Given the description of an element on the screen output the (x, y) to click on. 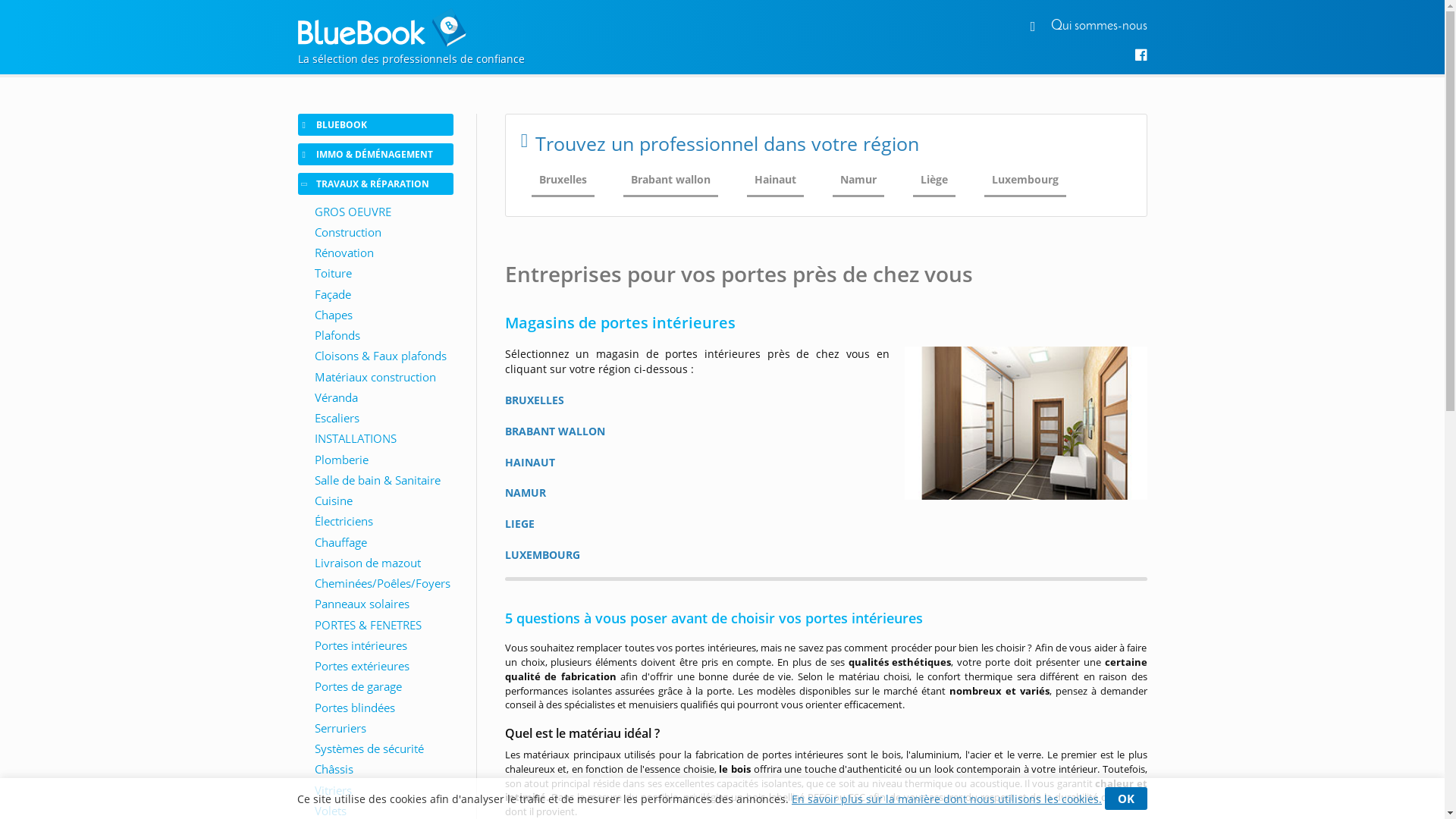
Qui sommes-nous Element type: text (1099, 25)
LUXEMBOURG Element type: text (542, 554)
BRUXELLES Element type: text (534, 399)
HAINAUT Element type: text (530, 462)
NAMUR Element type: text (525, 492)
Namur Element type: text (858, 180)
Hainaut Element type: text (774, 180)
LIEGE Element type: text (519, 523)
Brabant wallon Element type: text (670, 180)
BRABANT WALLON Element type: text (555, 430)
Luxembourg Element type: text (1025, 180)
Bruxelles Element type: text (562, 180)
